Given the description of an element on the screen output the (x, y) to click on. 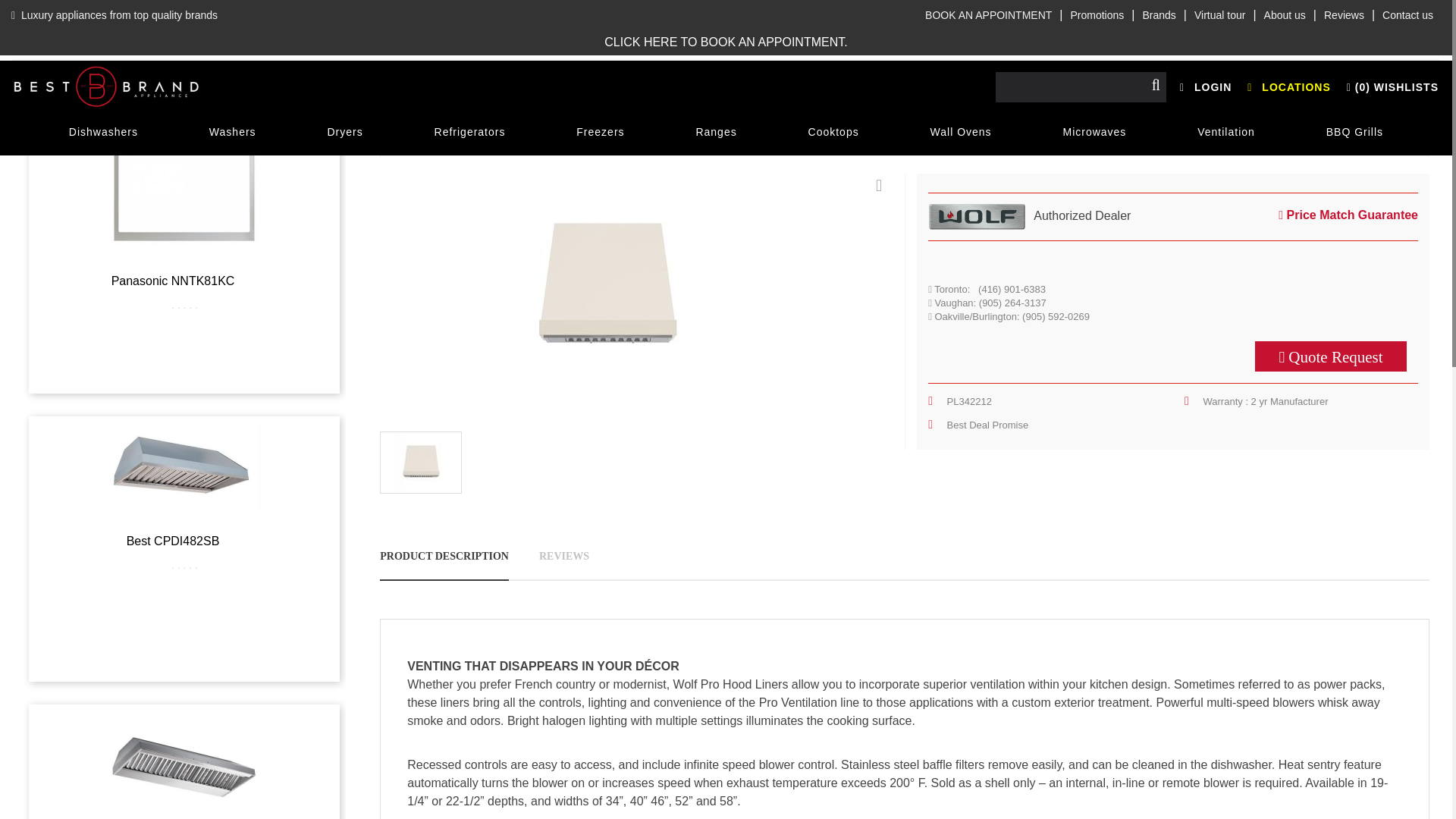
Virtual tour (1219, 15)
BOOK AN APPOINTMENT (988, 15)
Cooktops (833, 131)
Ventilation (1226, 131)
Ranges (715, 131)
Reviews (1343, 15)
LOGIN (1205, 86)
Wall Ovens (961, 131)
Brands (1158, 15)
Washers (232, 131)
